Given the description of an element on the screen output the (x, y) to click on. 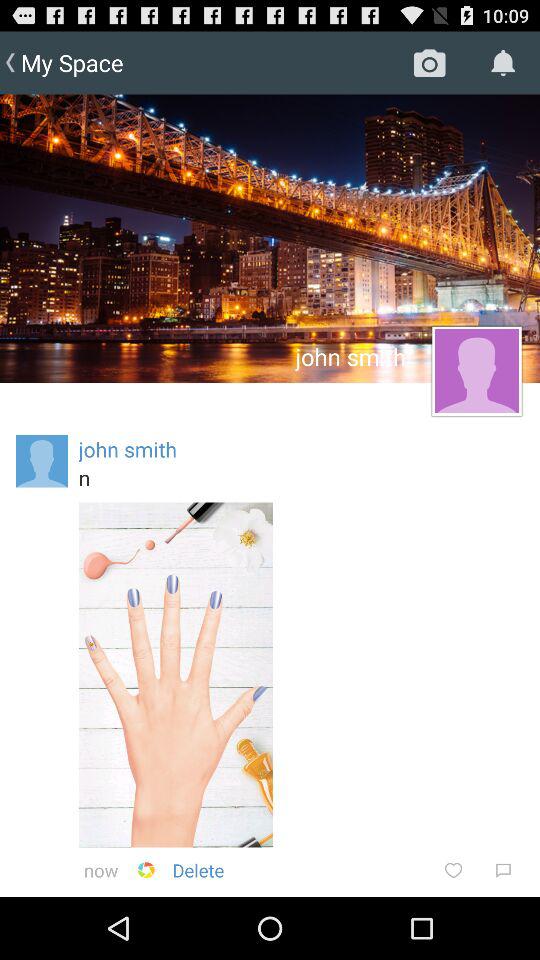
select app above the now icon (175, 674)
